Given the description of an element on the screen output the (x, y) to click on. 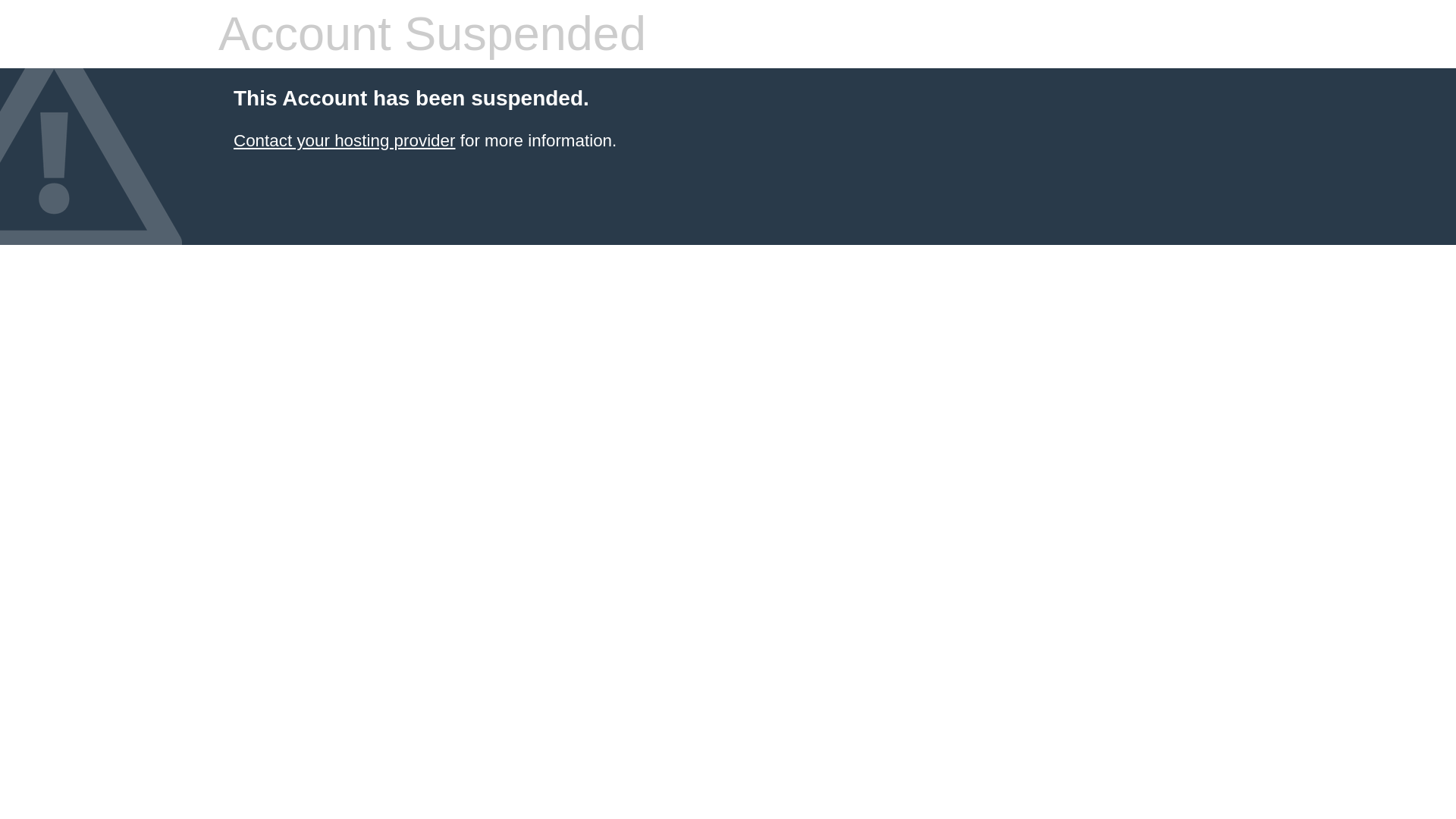
Contact your hosting provider (343, 140)
